Given the description of an element on the screen output the (x, y) to click on. 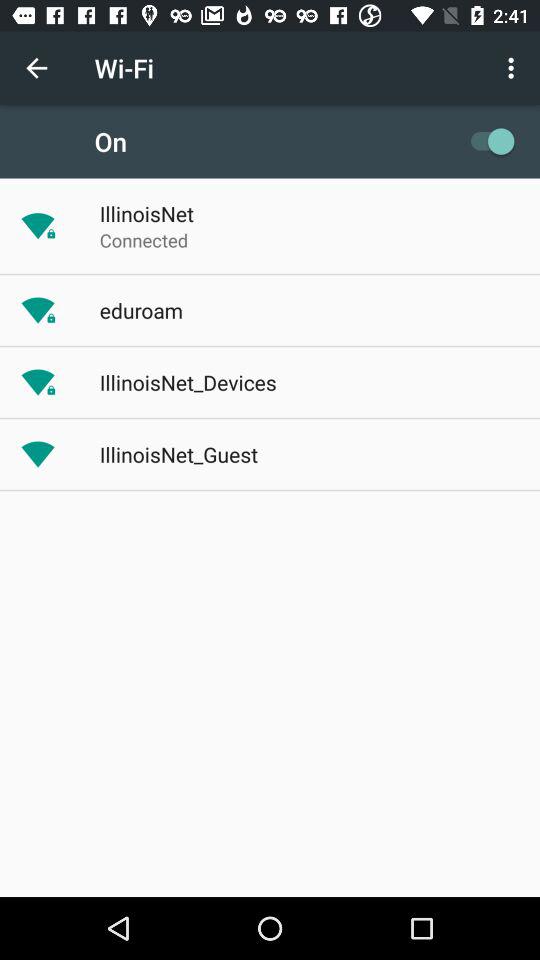
tap icon above illinoisnet_devices (140, 310)
